Given the description of an element on the screen output the (x, y) to click on. 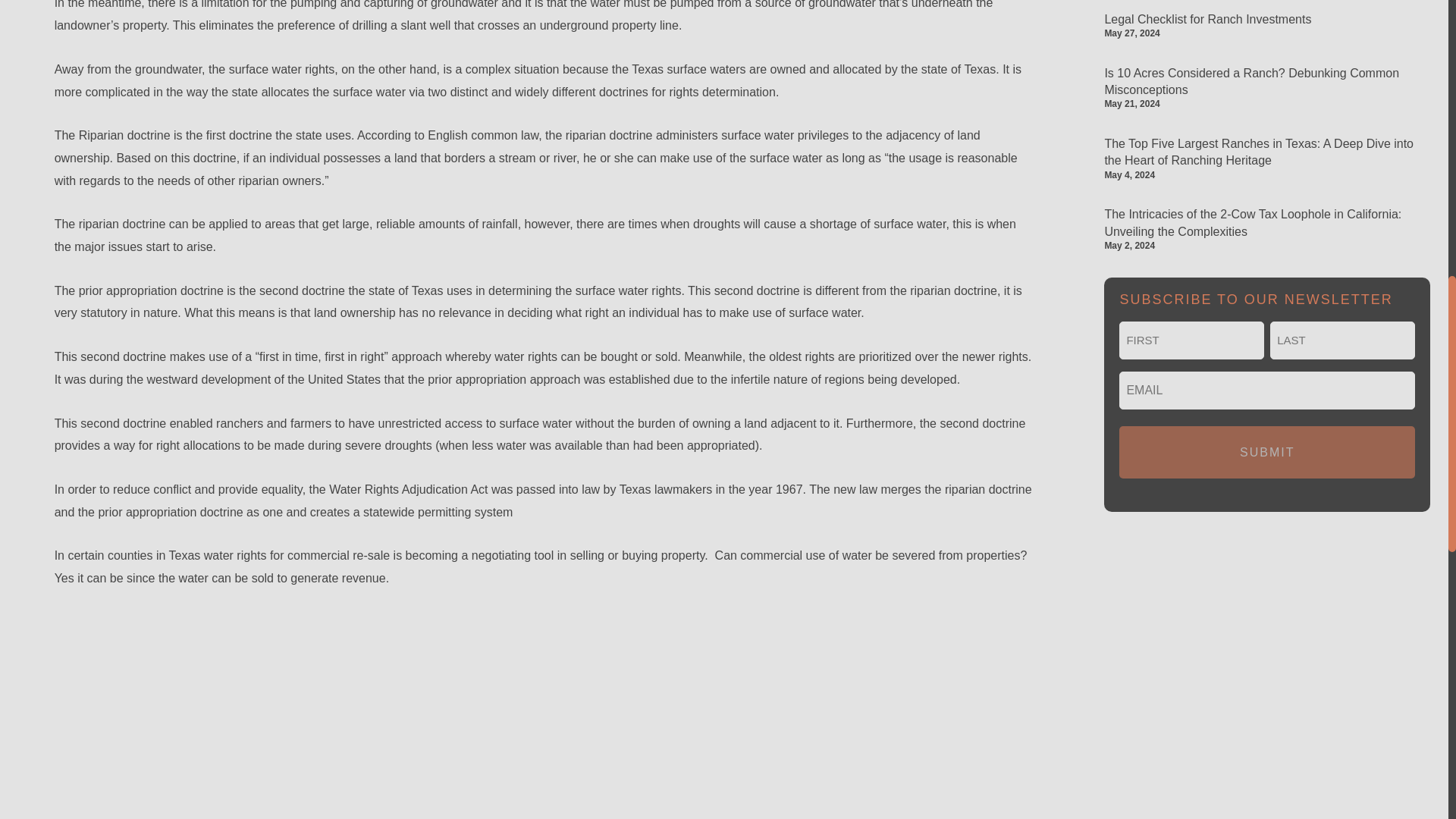
Legal Checklist for Ranch Investments (1207, 19)
Submit (1267, 452)
Submit (1267, 452)
